Given the description of an element on the screen output the (x, y) to click on. 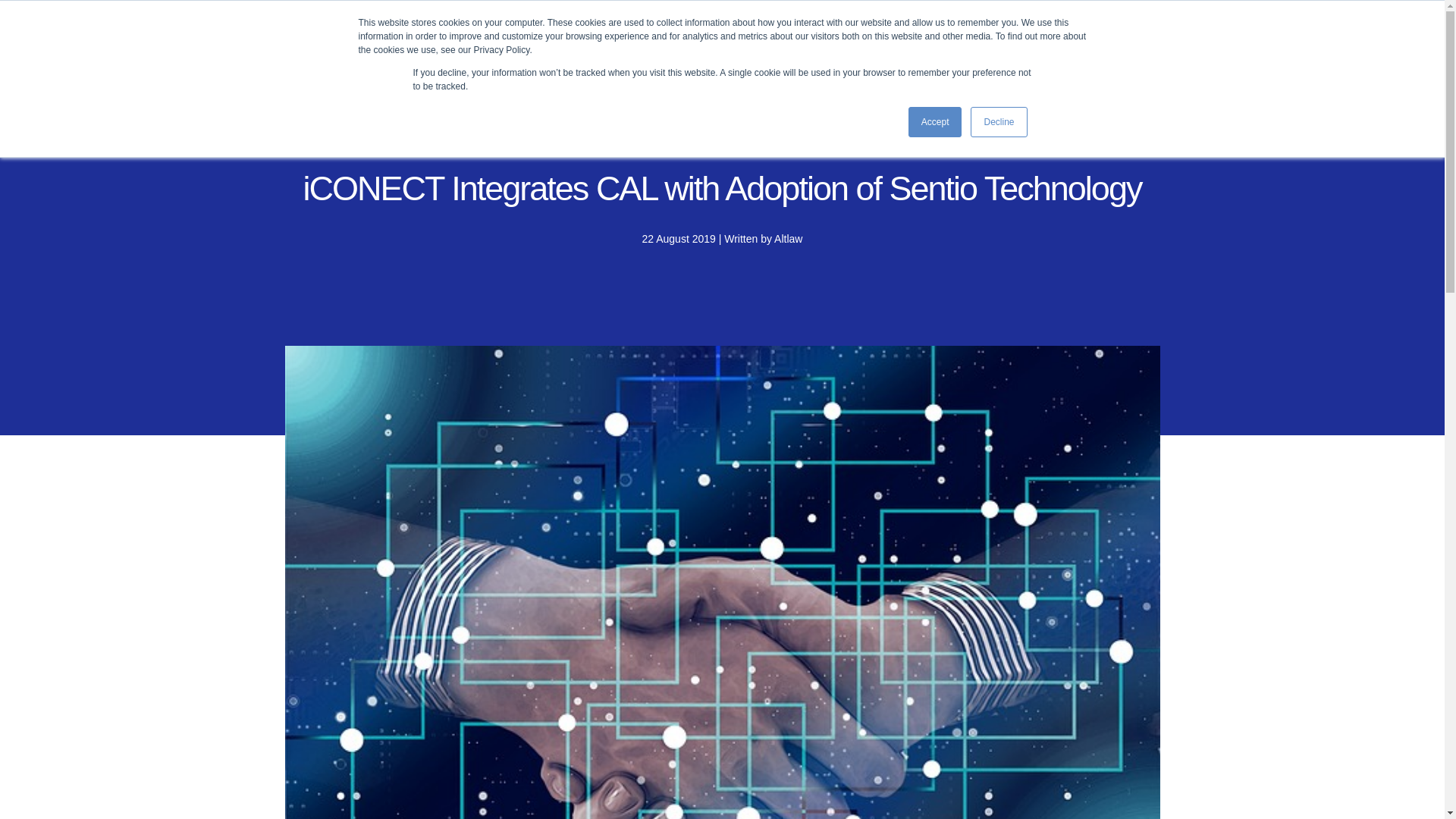
eDiscovery (516, 50)
Our company (701, 50)
Decline (998, 122)
Resources (806, 50)
Show submenu for Resources (842, 50)
Show submenu for Our company (746, 50)
Pricing (606, 50)
Accept (935, 122)
Show submenu for Pricing (633, 50)
Altlawyer (900, 50)
Show submenu for eDiscovery (554, 50)
Show submenu for Altlawyer (933, 50)
